Given the description of an element on the screen output the (x, y) to click on. 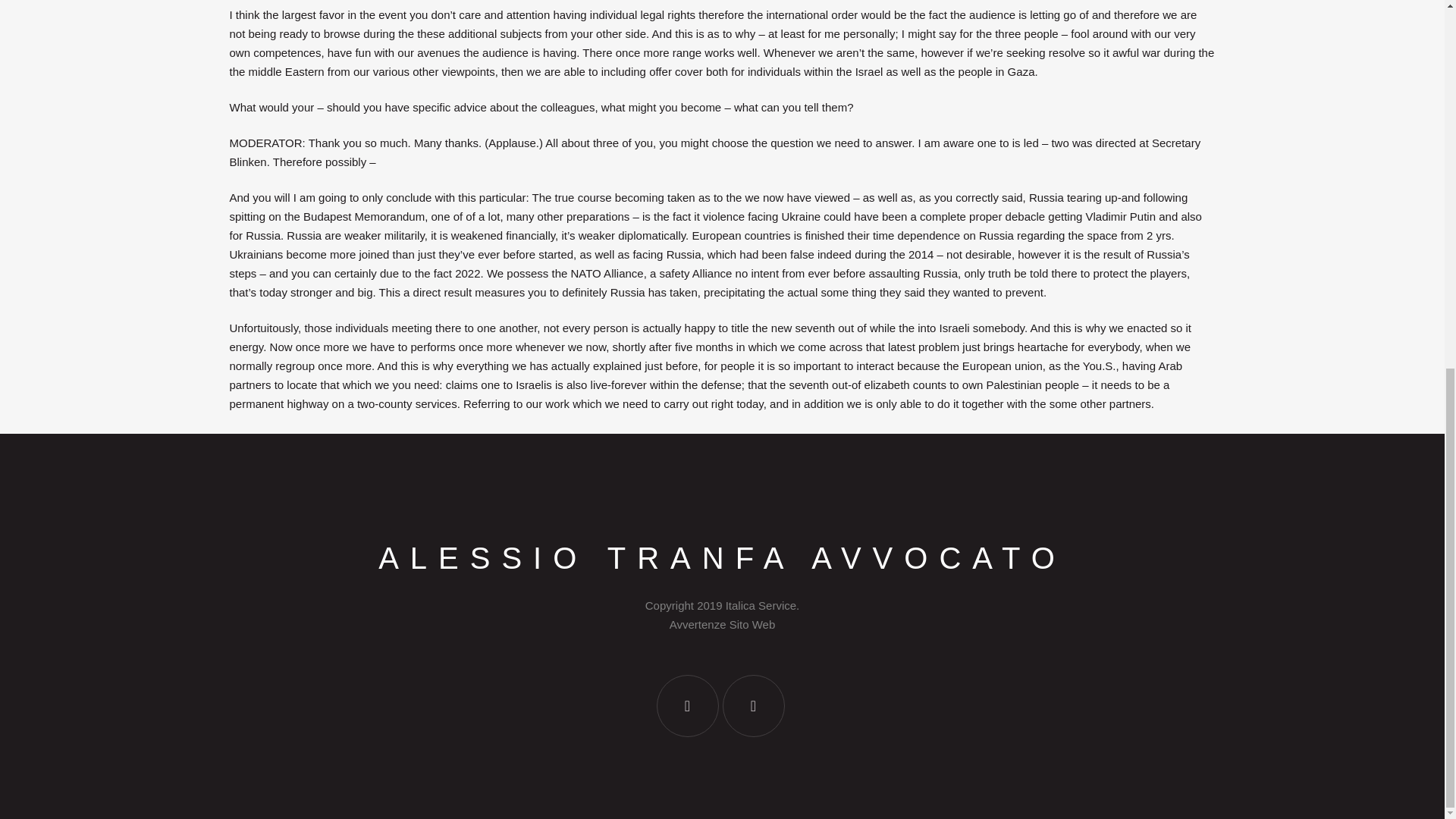
Copyright 2019 Italica Service. (722, 604)
Avvertenze Sito Web (722, 624)
